Given the description of an element on the screen output the (x, y) to click on. 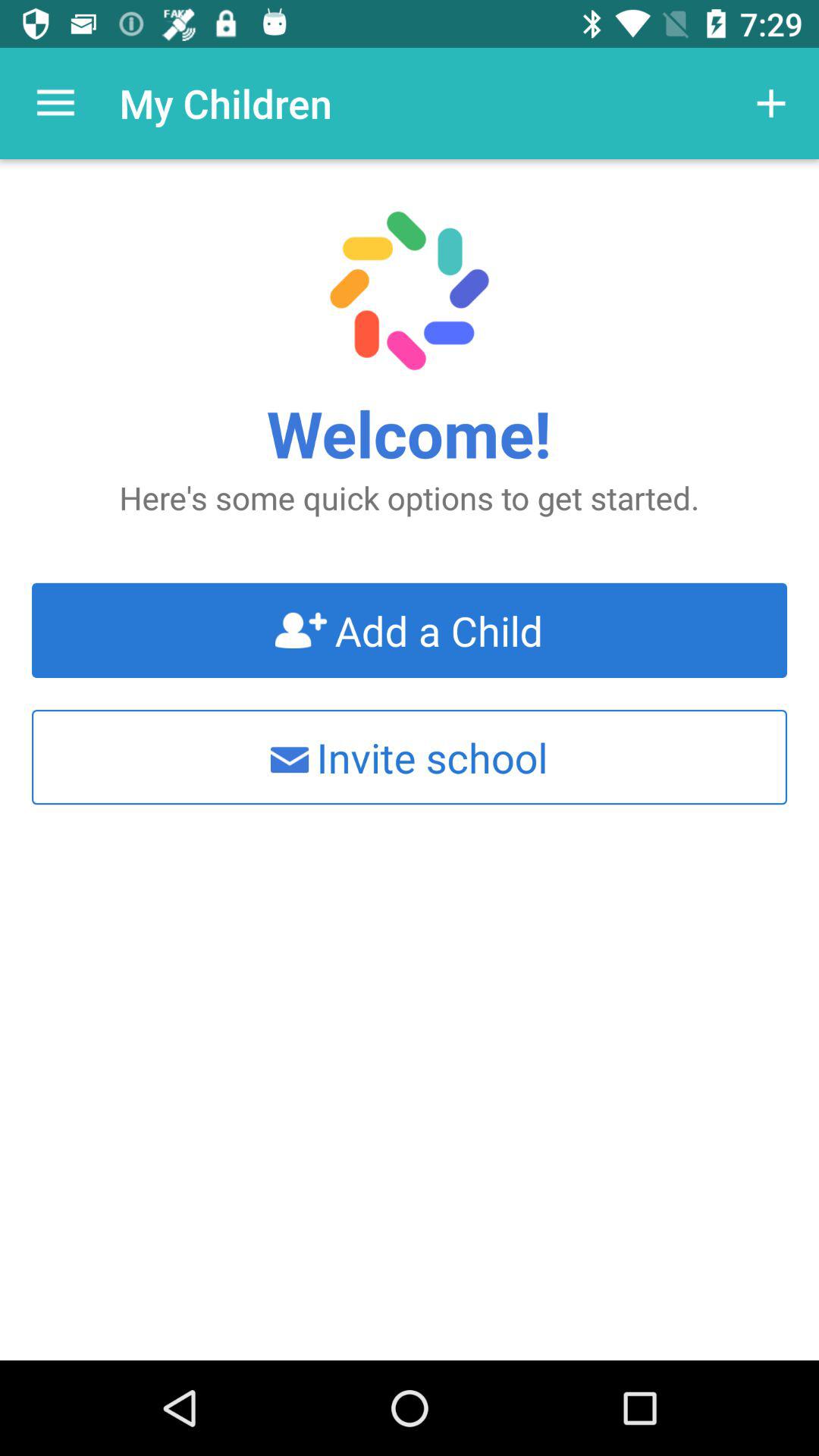
turn off the item to the left of my children (55, 103)
